Given the description of an element on the screen output the (x, y) to click on. 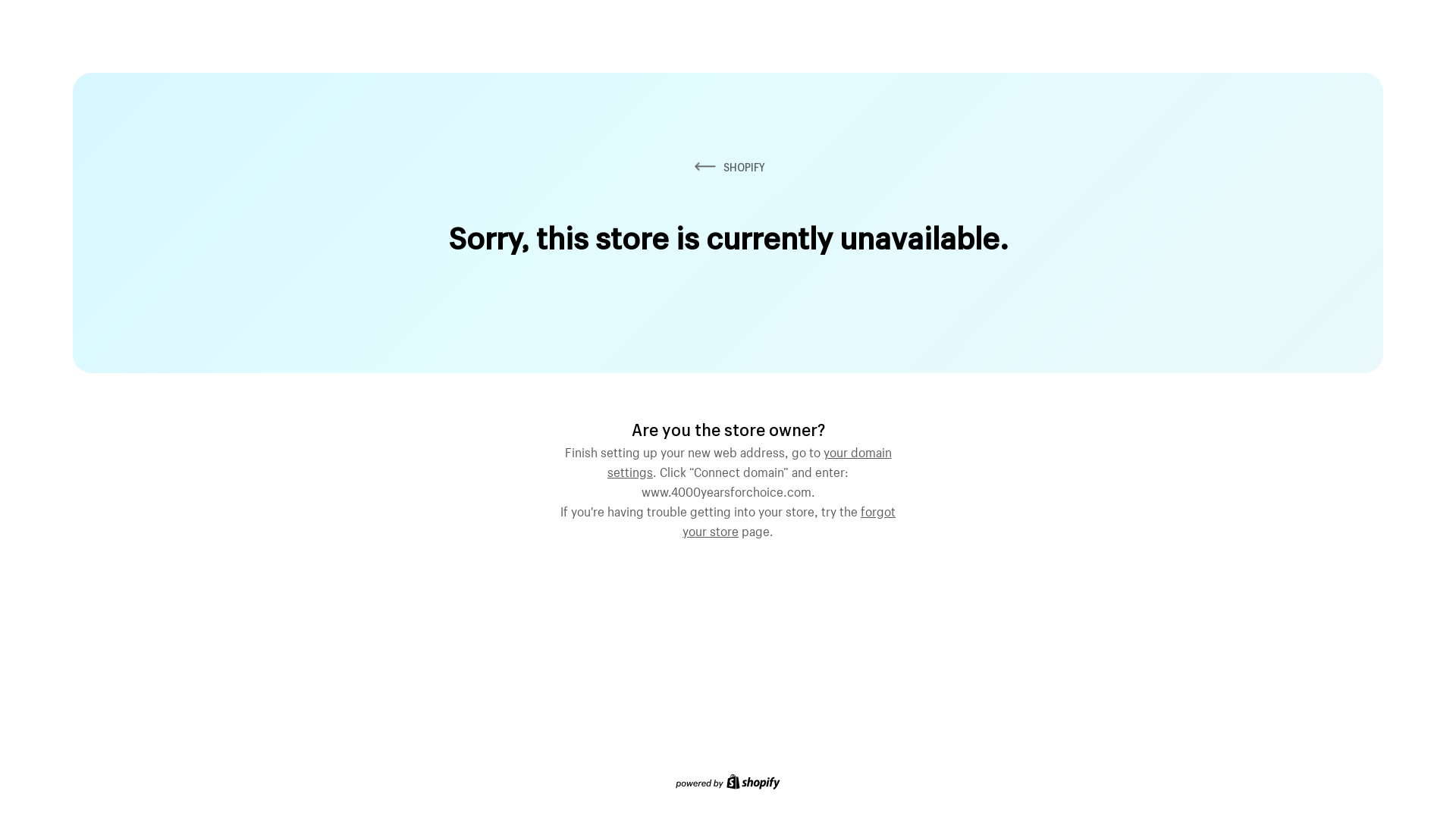
your domain settings Element type: text (749, 460)
forgot your store Element type: text (788, 519)
SHOPIFY Element type: text (727, 167)
